Given the description of an element on the screen output the (x, y) to click on. 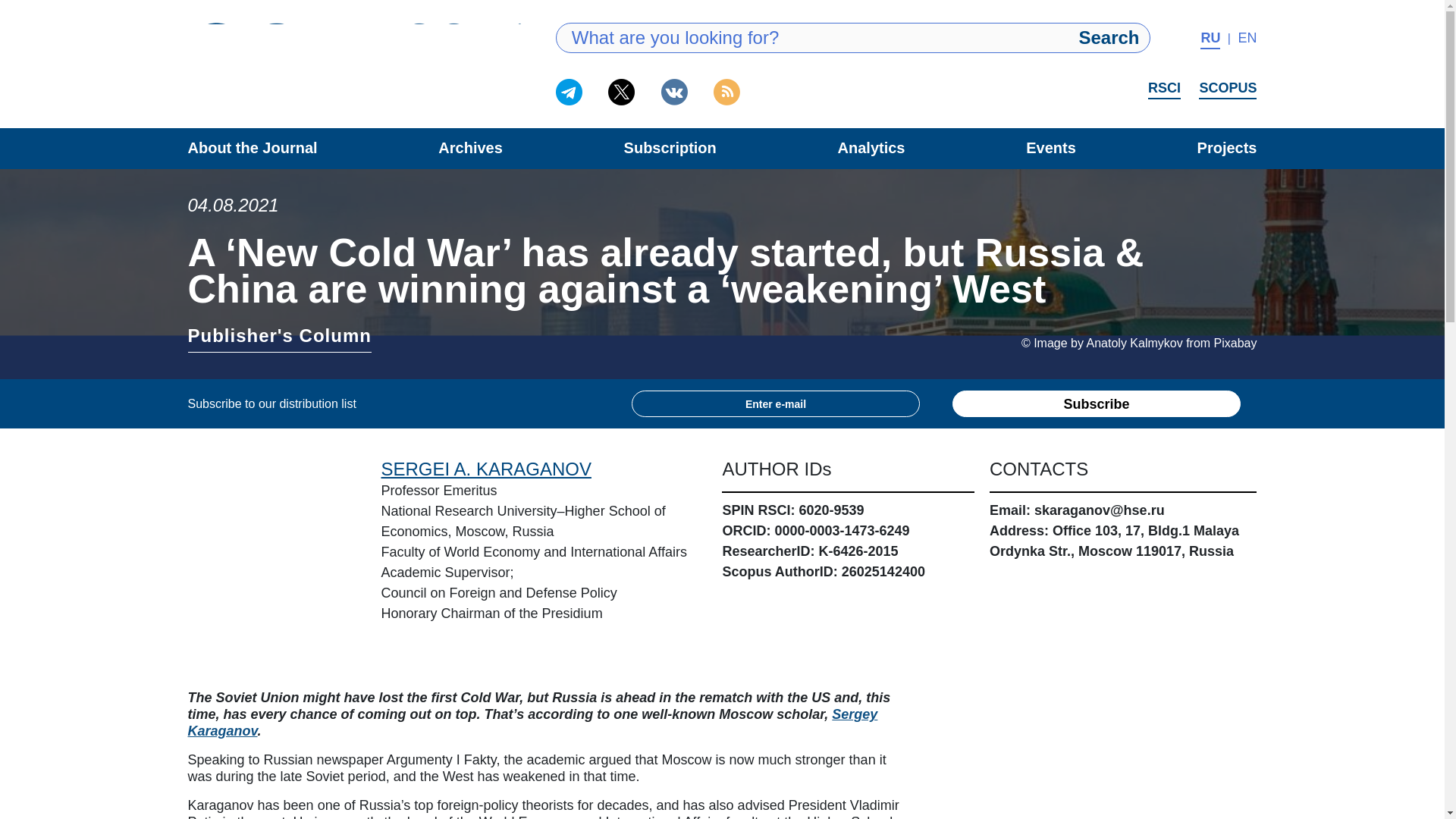
Twitter (621, 91)
Subscription (670, 147)
RSCI (1164, 89)
Archives (470, 147)
Search (1108, 37)
Vkontakte (674, 91)
RSS (726, 91)
RU (1209, 39)
About the Journal (252, 147)
Telegram (569, 91)
SCOPUS (1227, 89)
Analytics (871, 147)
